Given the description of an element on the screen output the (x, y) to click on. 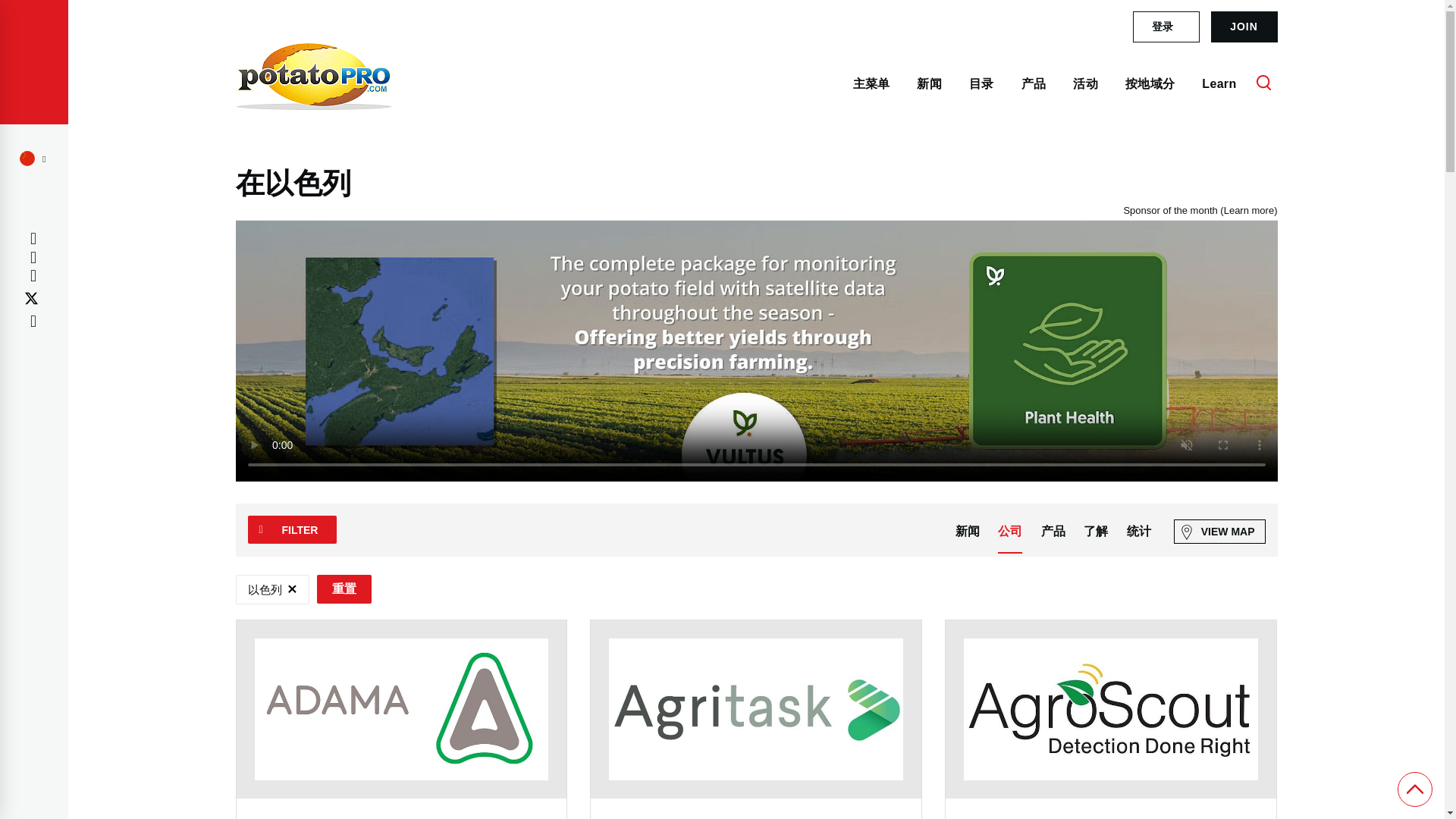
JOIN (1242, 26)
Learn (1219, 82)
